Given the description of an element on the screen output the (x, y) to click on. 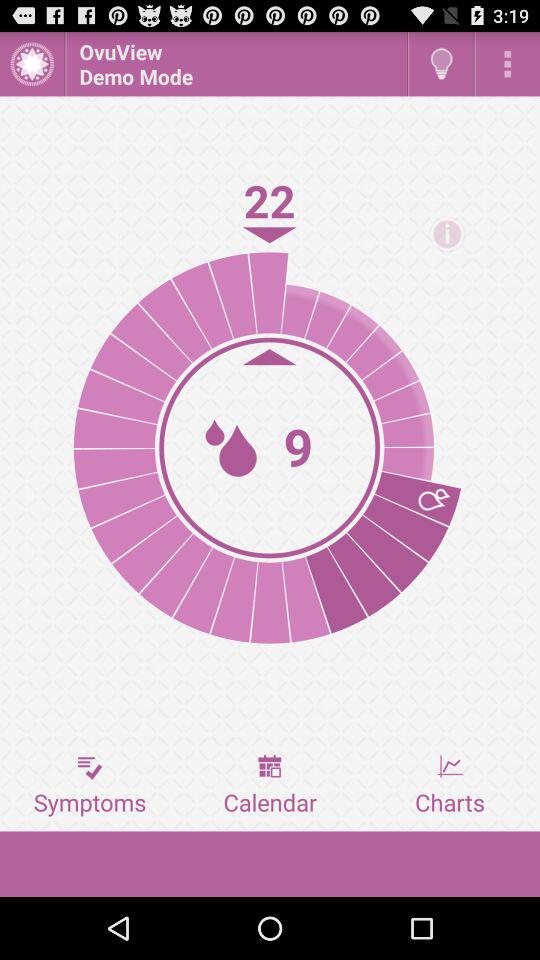
swipe to the calendar button (270, 785)
